Given the description of an element on the screen output the (x, y) to click on. 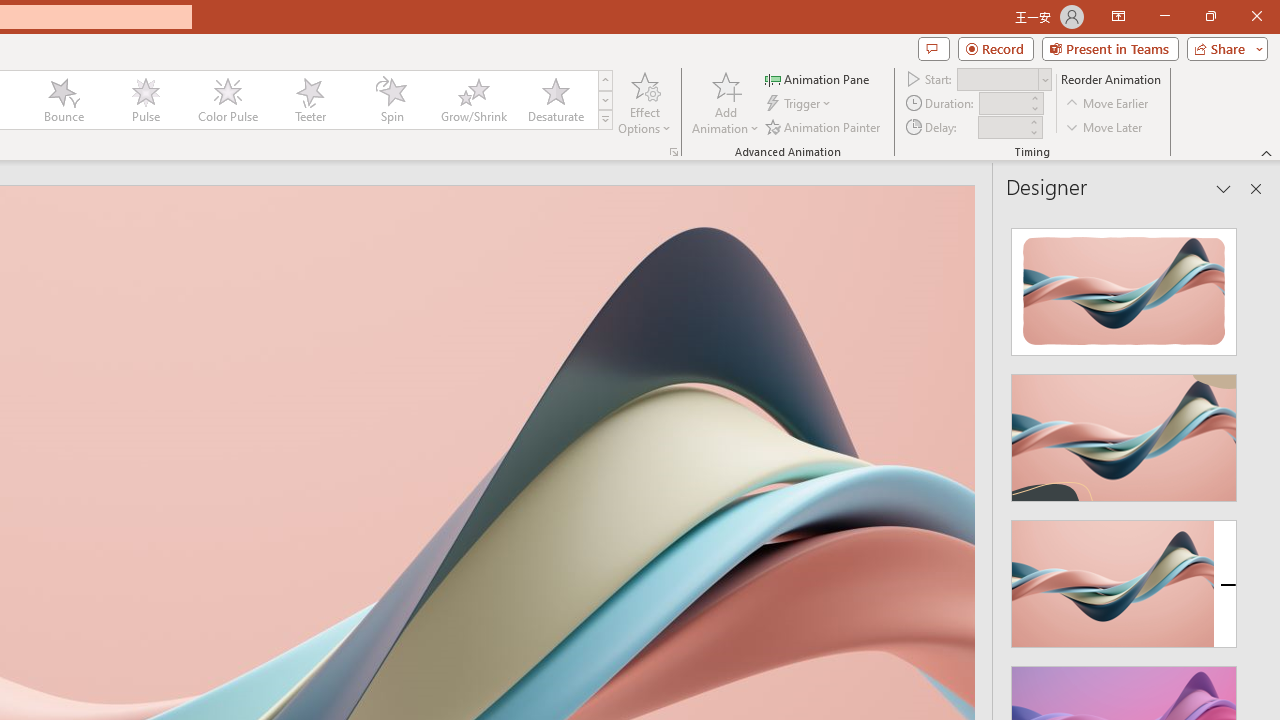
Move Earlier (1107, 103)
Animation Delay (1002, 127)
Desaturate (555, 100)
Animation Styles (605, 120)
